Given the description of an element on the screen output the (x, y) to click on. 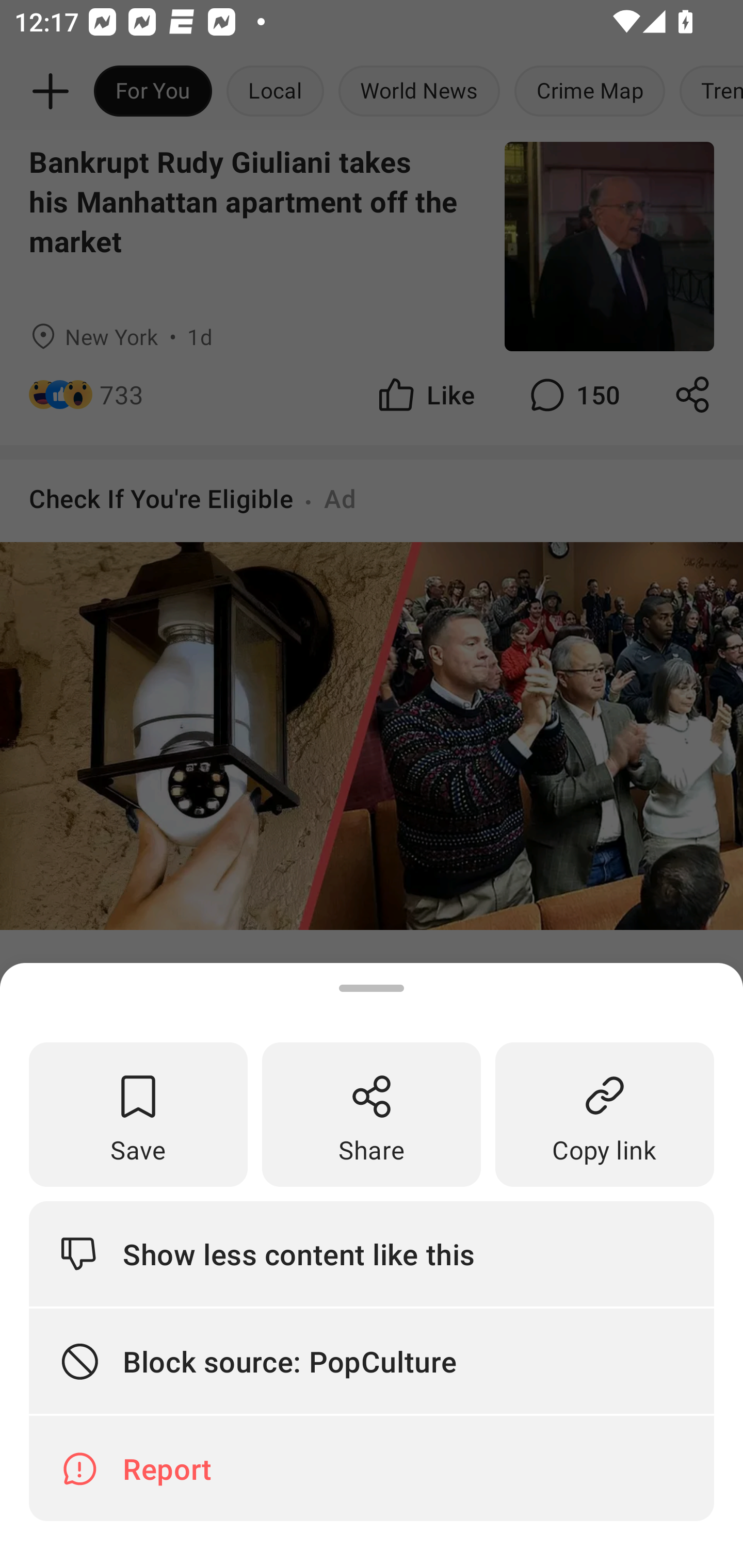
Save (137, 1114)
Share (371, 1114)
Copy link (604, 1114)
Show less content like this (371, 1253)
Block source: PopCulture (371, 1361)
Report (371, 1467)
